Given the description of an element on the screen output the (x, y) to click on. 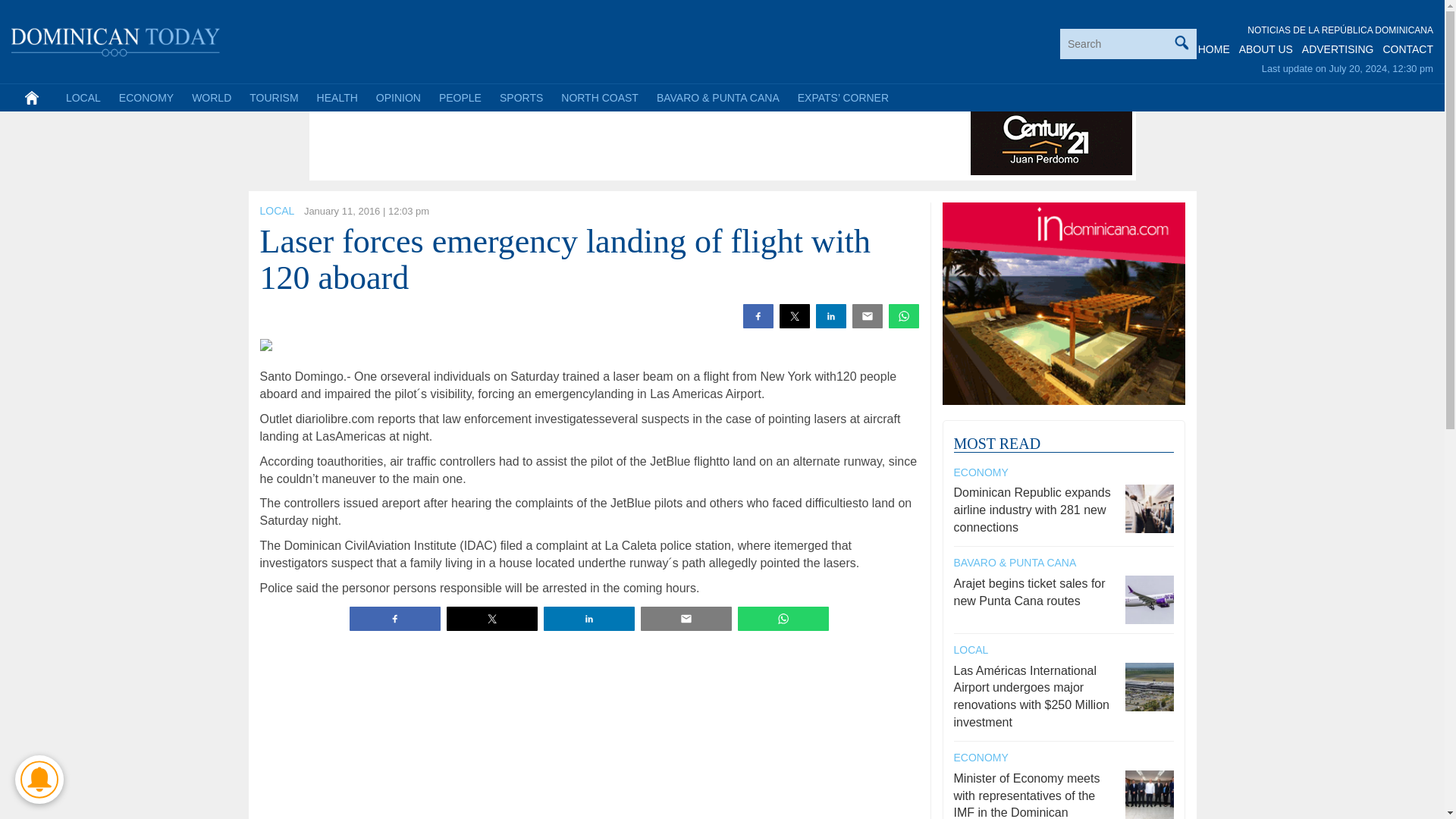
TOURISM (273, 97)
Dominican Today News - Santo Domingo and Dominican Republic (116, 38)
ECONOMY (146, 97)
PEOPLE (459, 97)
OPINION (397, 97)
ABOUT US (1265, 49)
Advertisement (588, 729)
NORTH COAST (599, 97)
LOCAL (276, 210)
HOME (1214, 49)
LOCAL (83, 97)
HEALTH (336, 97)
ADVERTISING (1337, 49)
WORLD (211, 97)
